Given the description of an element on the screen output the (x, y) to click on. 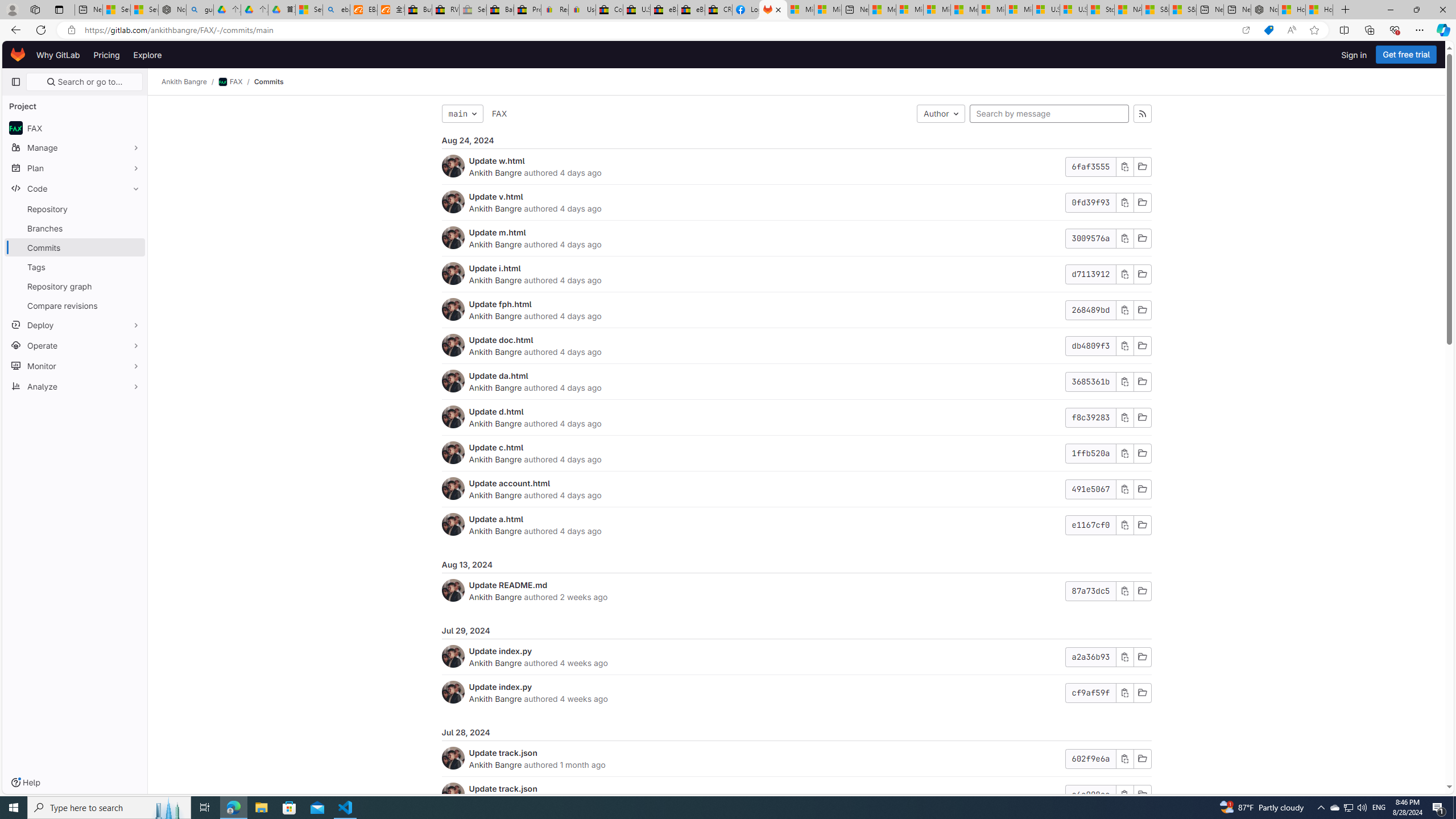
Update c.html (496, 447)
Manage (74, 147)
Jul 29, 2024 (796, 630)
Author (941, 113)
Update c.htmlAnkith Bangre authored 4 days ago1ffb520a (796, 453)
FAX (499, 113)
Update a.html (496, 519)
Repository (74, 208)
Get free trial (1406, 54)
Plan (74, 167)
U.S. State Privacy Disclosures - eBay Inc. (636, 9)
Sign in (1353, 54)
Analyze (74, 385)
